Given the description of an element on the screen output the (x, y) to click on. 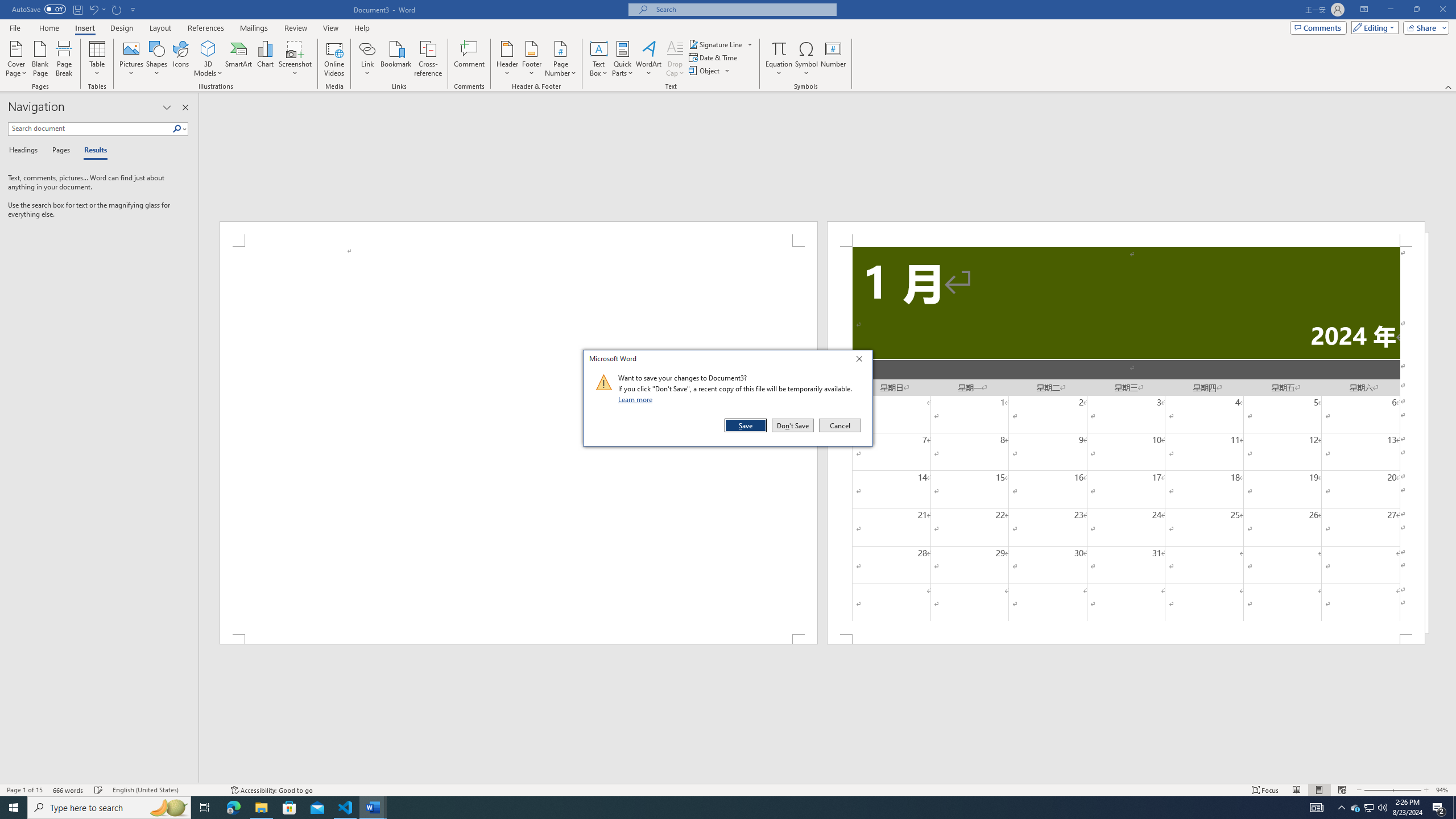
Drop Cap (674, 58)
3D Models (208, 48)
Object... (709, 69)
Link (367, 48)
Text Box (598, 58)
Pictures (131, 58)
Cover Page (16, 58)
